Given the description of an element on the screen output the (x, y) to click on. 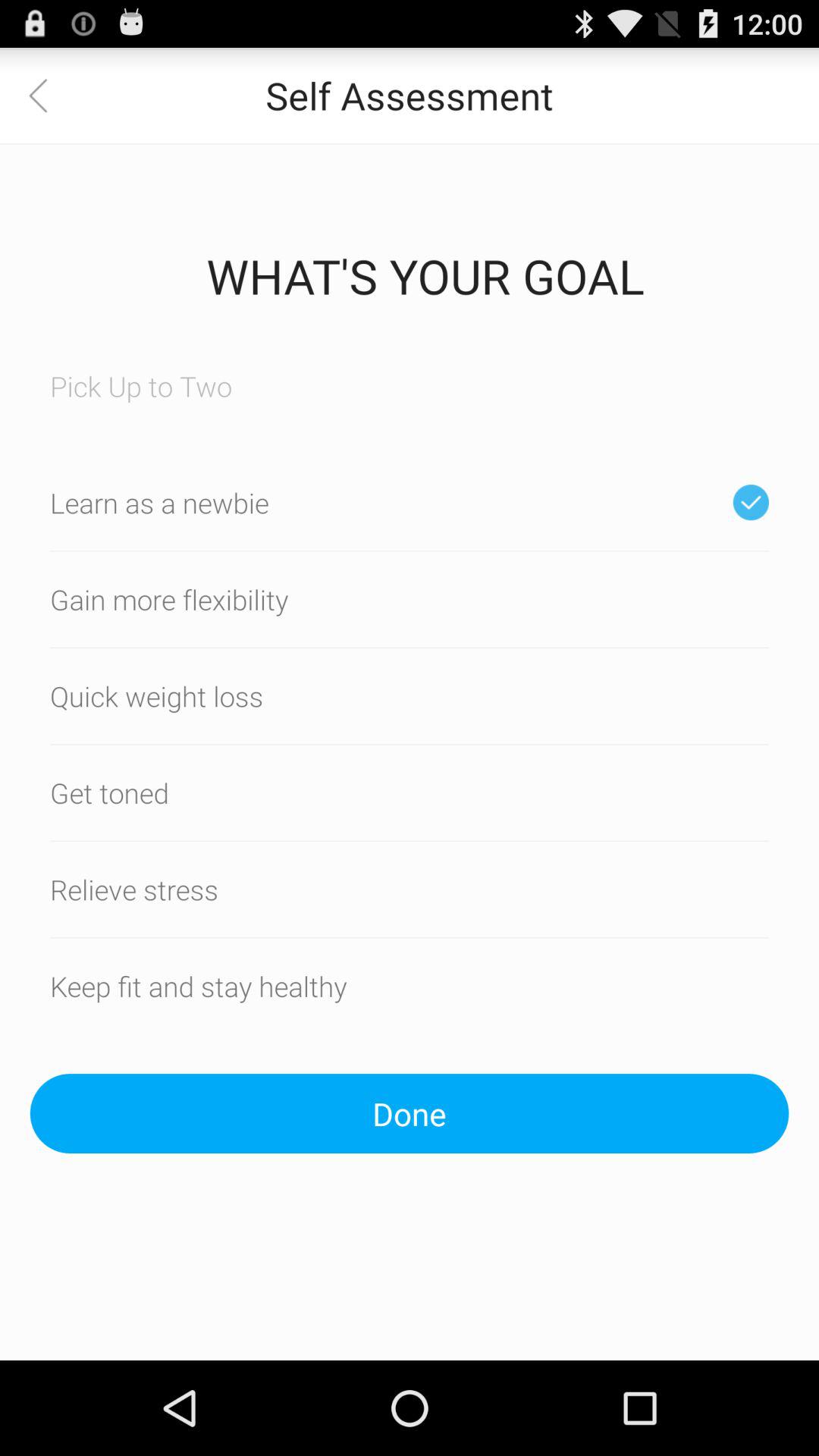
select icon below the keep fit and (409, 1113)
